Given the description of an element on the screen output the (x, y) to click on. 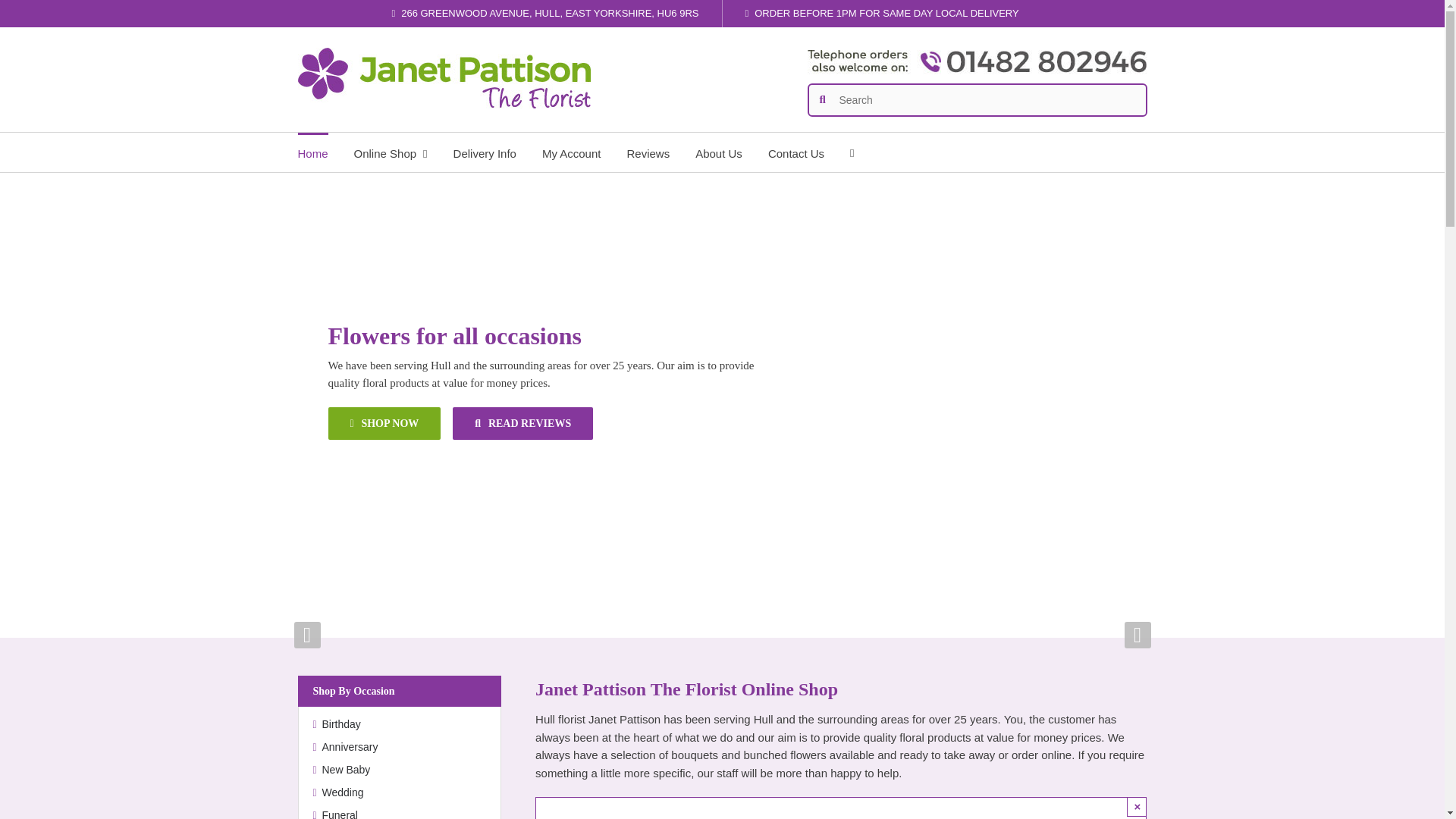
My Account (571, 151)
Contact Us (796, 151)
Online Shop (390, 151)
Reviews (647, 151)
About Us (718, 151)
Delivery Info (484, 151)
READ REVIEWS (522, 423)
SHOP NOW (384, 423)
